Given the description of an element on the screen output the (x, y) to click on. 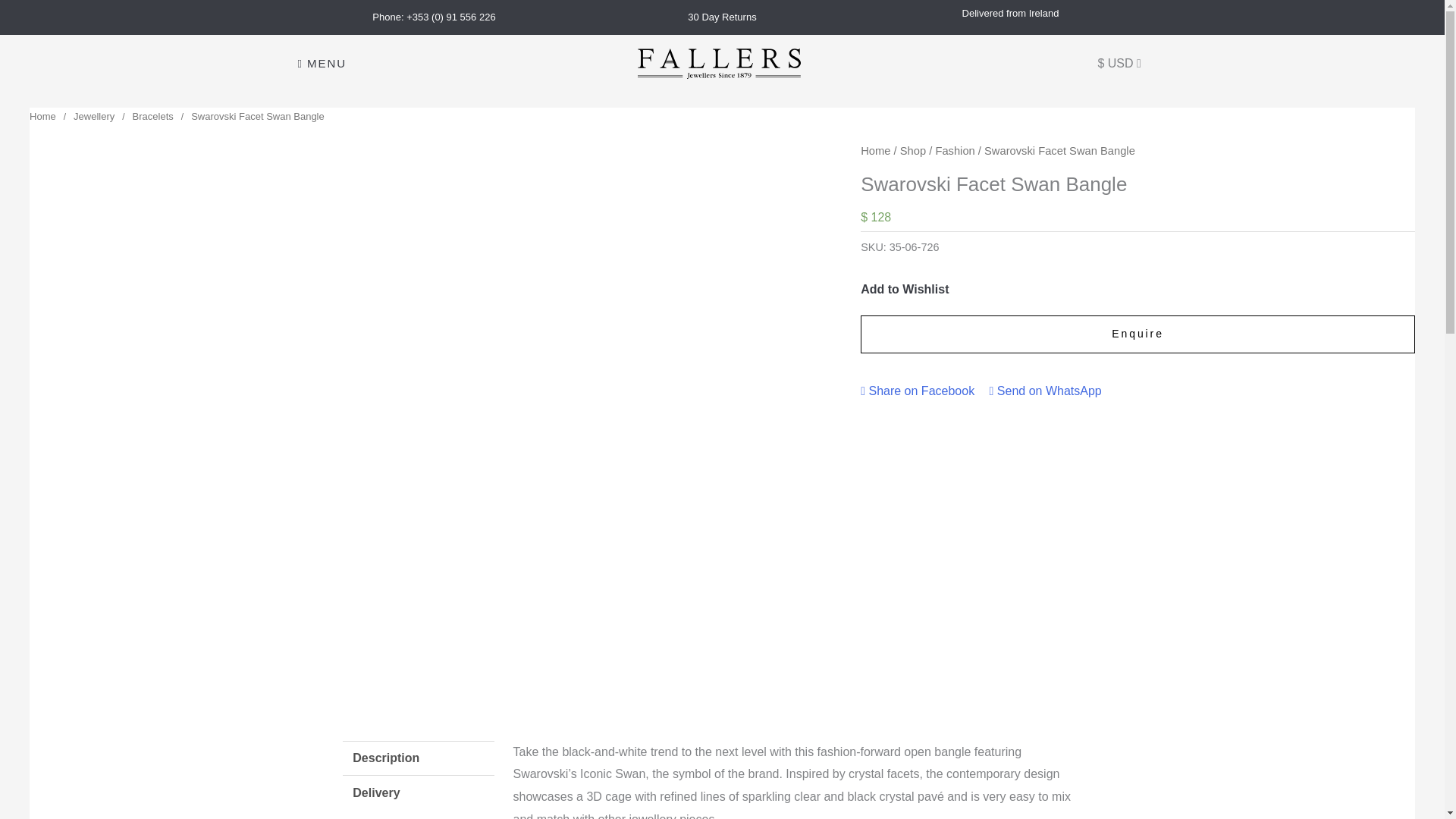
Shop (912, 150)
Home (42, 116)
Enquire (1137, 333)
Bracelets (152, 116)
Jewellery (94, 116)
MENU (321, 63)
Fashion (954, 150)
Home (874, 150)
Add to Wishlist (904, 289)
